Given the description of an element on the screen output the (x, y) to click on. 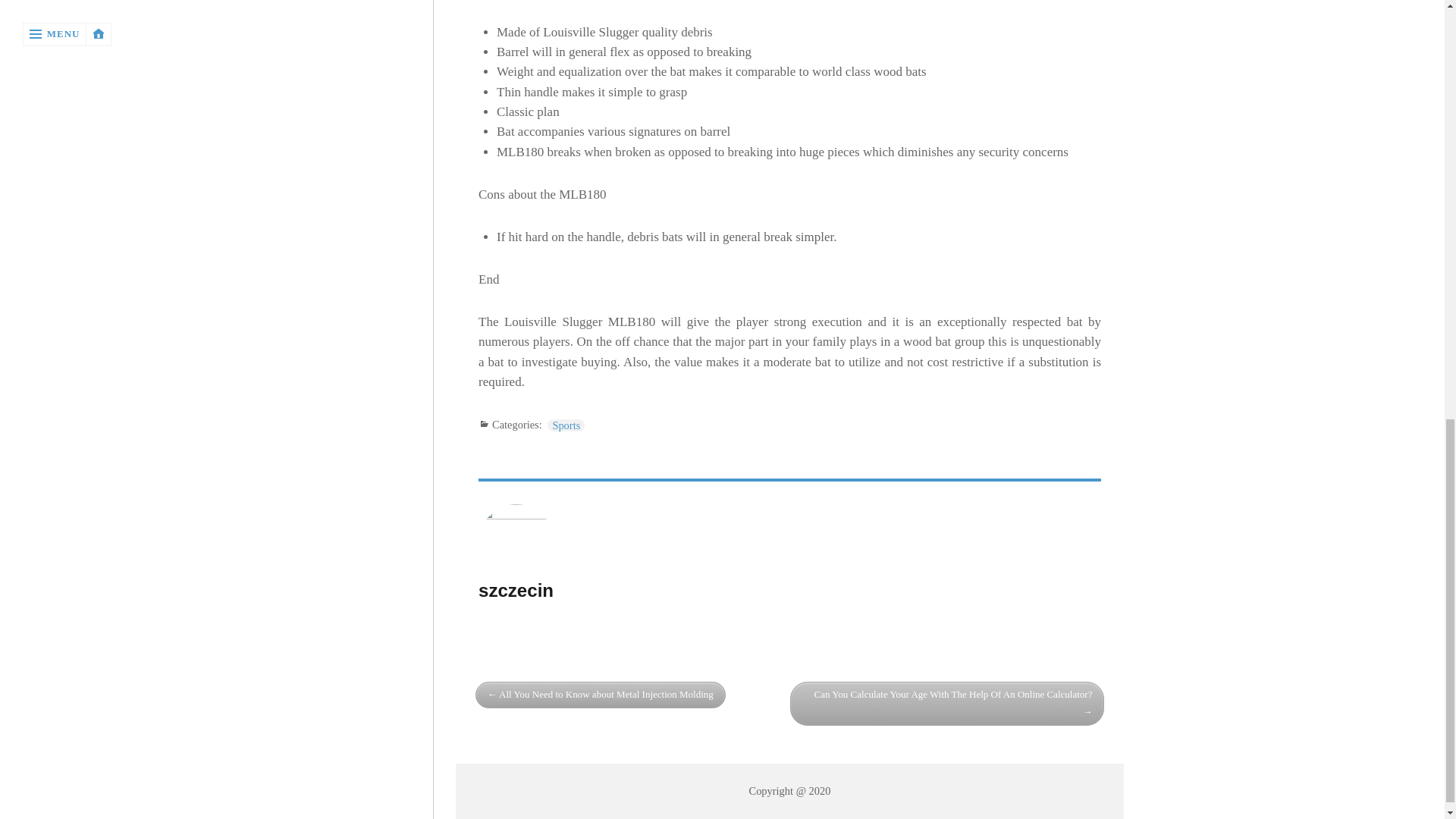
All You Need to Know about Metal Injection Molding (600, 694)
Sports (566, 425)
